Given the description of an element on the screen output the (x, y) to click on. 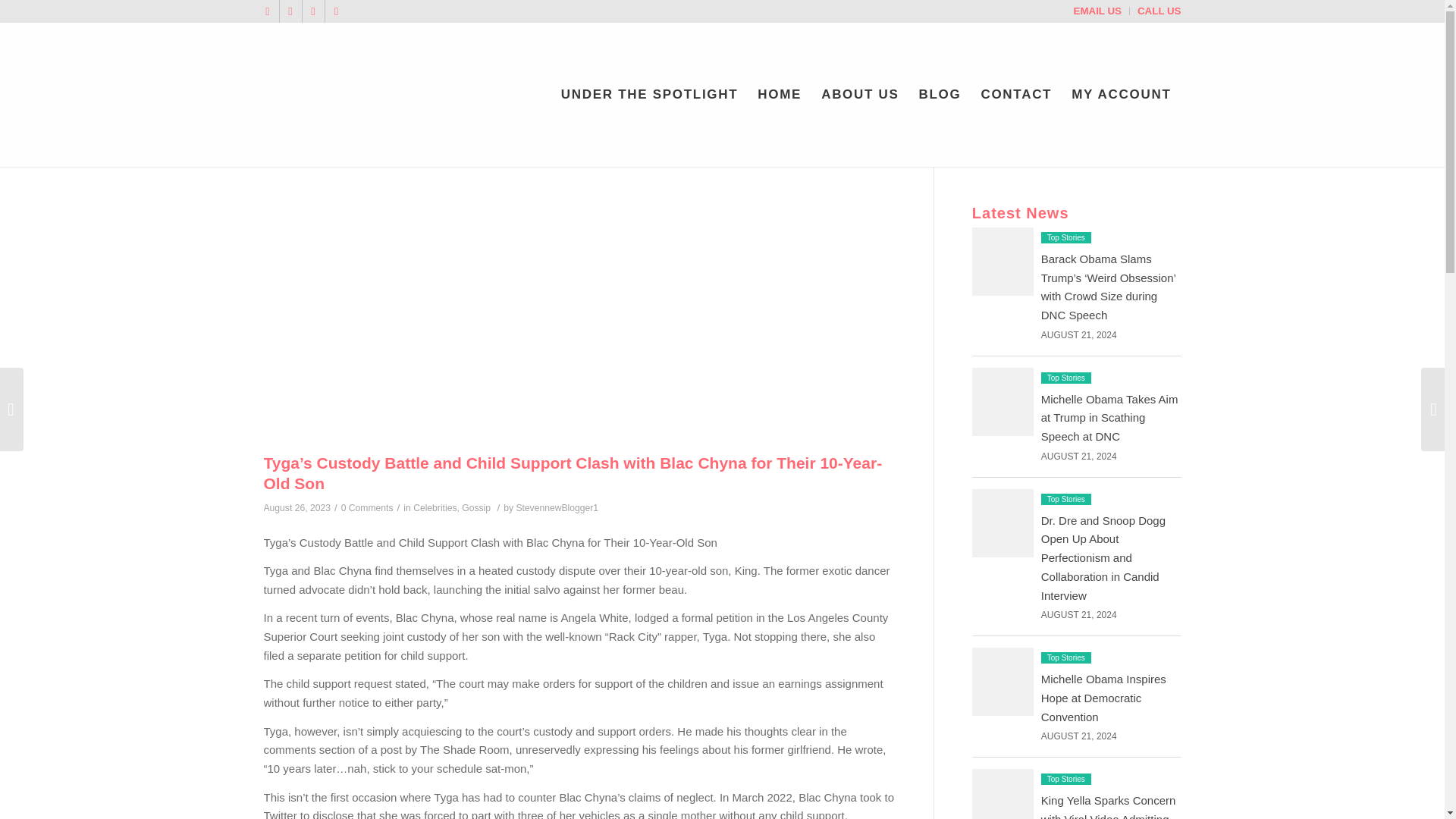
StevennewBlogger1 (556, 507)
Gossip (475, 507)
Twitter (267, 11)
Facebook (290, 11)
Celebrities (435, 507)
EMAIL US (1097, 11)
Posts by StevennewBlogger1 (556, 507)
CALL US (1158, 11)
0 Comments (366, 507)
UNDER THE SPOTLIGHT (649, 94)
